Given the description of an element on the screen output the (x, y) to click on. 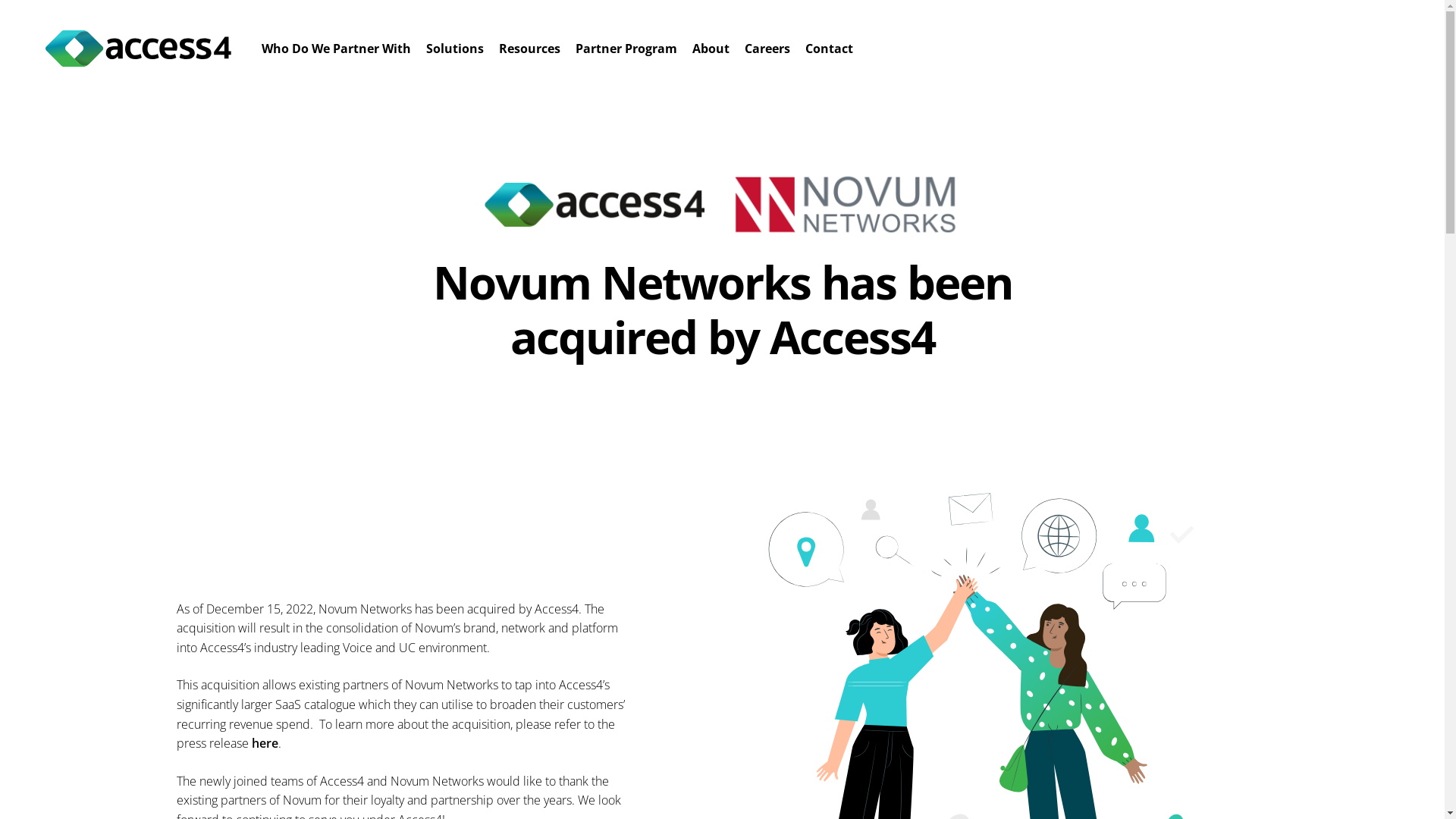
Resources Element type: text (529, 48)
Who Do We Partner With Element type: text (336, 48)
here Element type: text (264, 742)
Contact Element type: text (828, 48)
Access4 Logo Element type: hover (138, 48)
About Element type: text (710, 48)
Careers Element type: text (767, 48)
Solutions Element type: text (454, 48)
Partner Program Element type: text (625, 48)
